Given the description of an element on the screen output the (x, y) to click on. 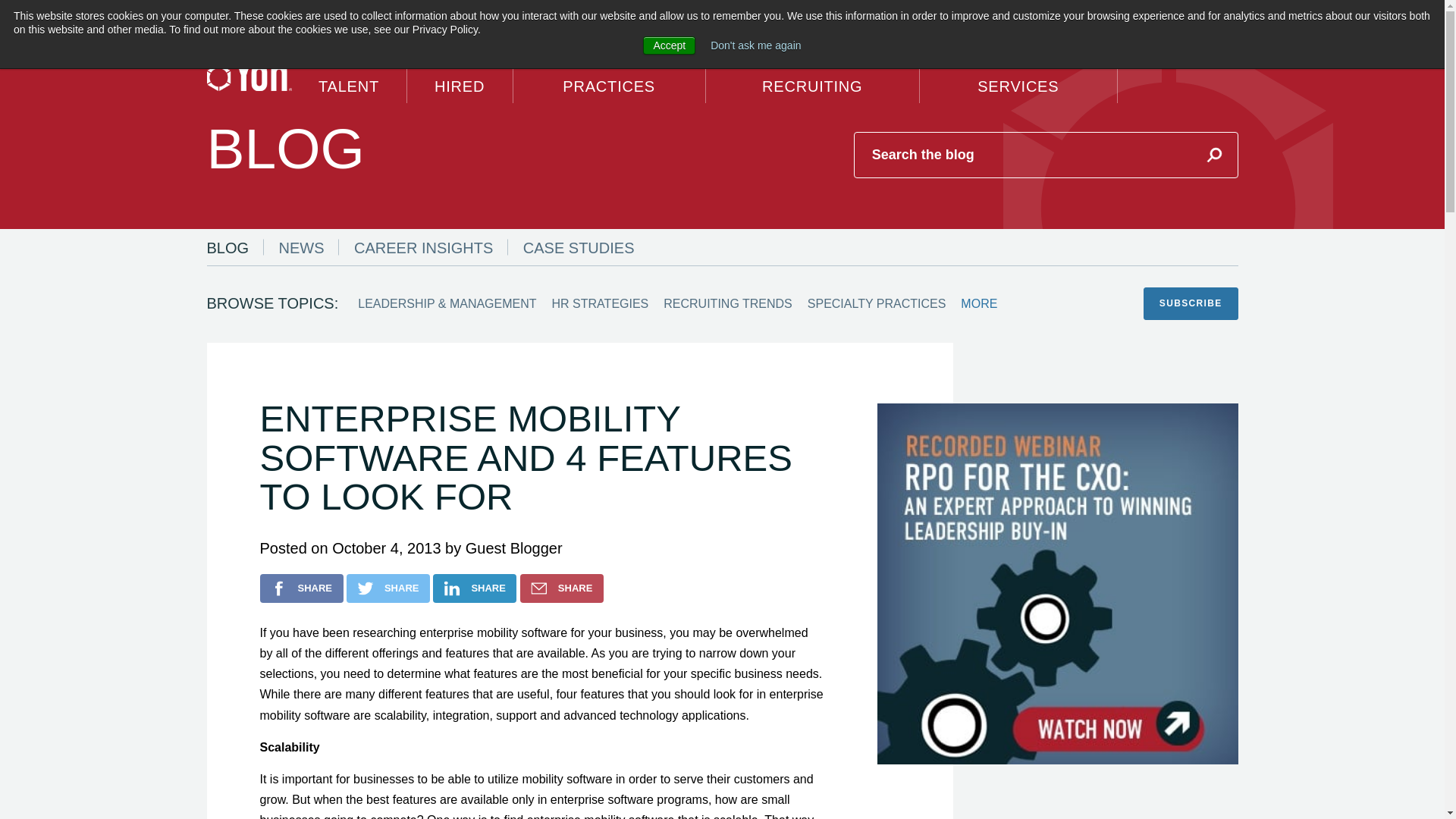
Don't ask me again (755, 45)
SPECIALTY PRACTICES (609, 73)
GET TALENT (348, 73)
ABOUT (1145, 14)
LETS TALK (1201, 14)
SEARCH (1002, 14)
Share on Facebook (300, 588)
GET HIRED (460, 73)
Accept (669, 45)
Tweet on Twitter (387, 588)
RESOURCES (1085, 14)
Share on LinkedIn (474, 588)
Email (561, 588)
